Given the description of an element on the screen output the (x, y) to click on. 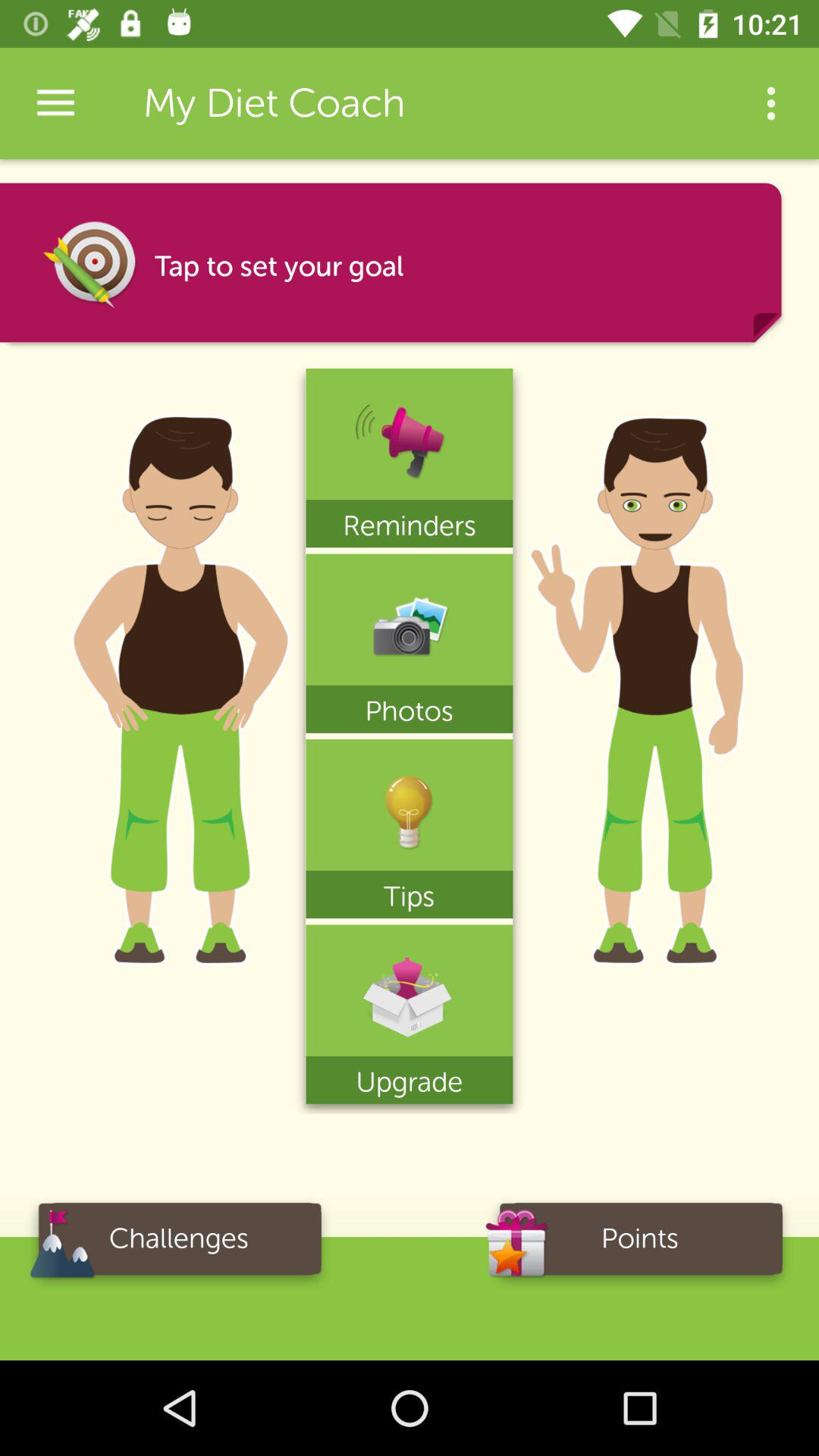
scroll until the challenges item (178, 1243)
